Given the description of an element on the screen output the (x, y) to click on. 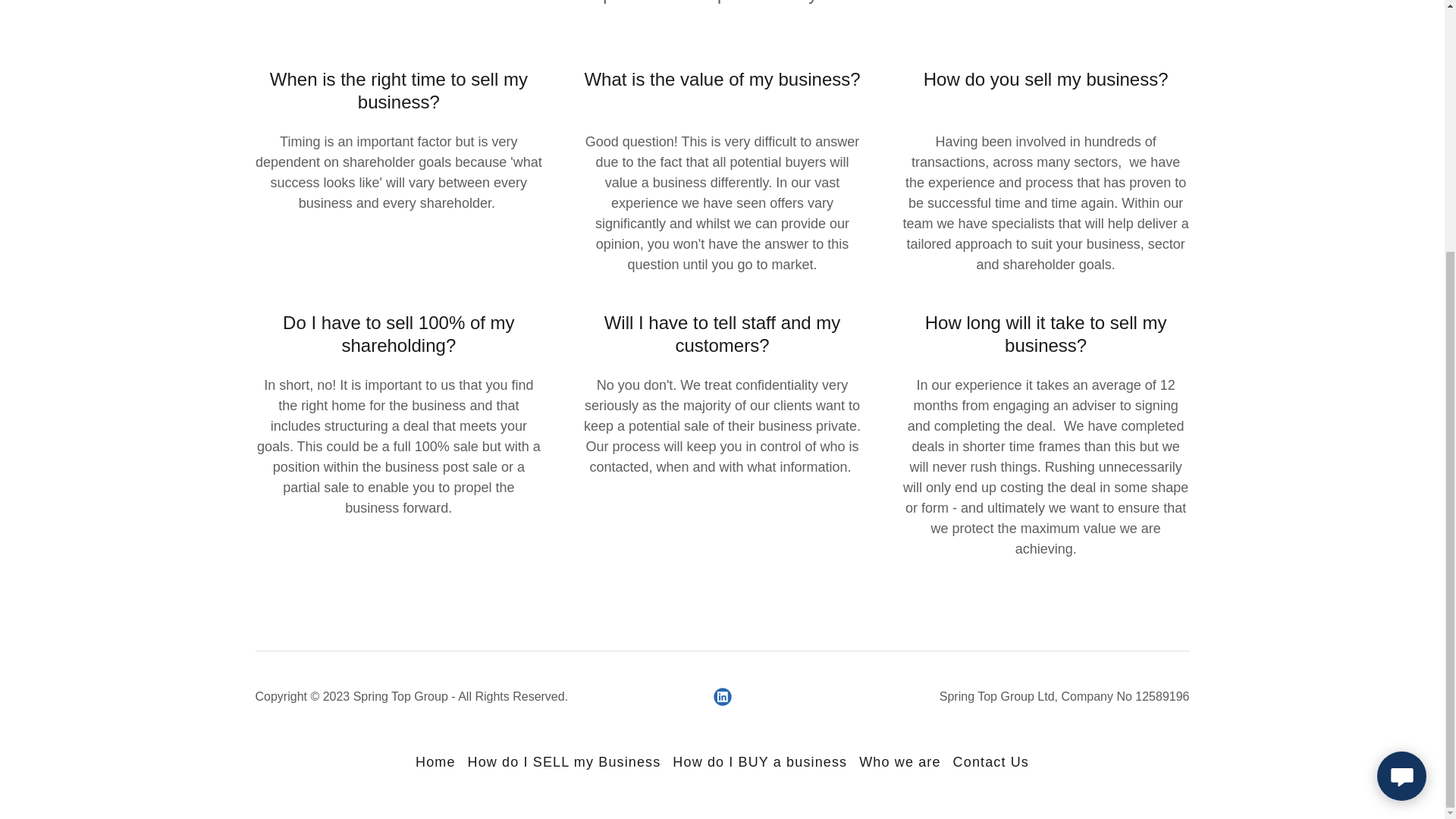
How do I BUY a business (759, 762)
Who we are (899, 762)
Home (435, 762)
How do I SELL my Business (563, 762)
Contact Us (991, 762)
